Given the description of an element on the screen output the (x, y) to click on. 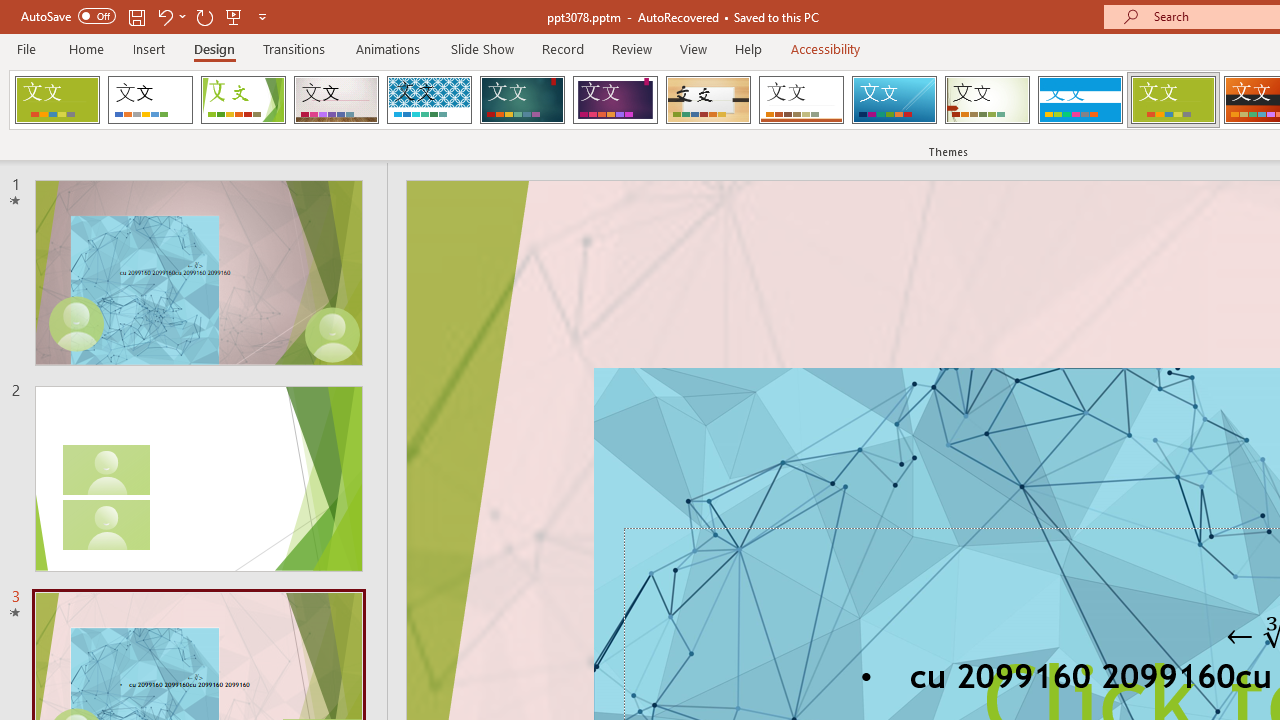
Organic (708, 100)
Ion Boardroom (615, 100)
Banded (1080, 100)
